Given the description of an element on the screen output the (x, y) to click on. 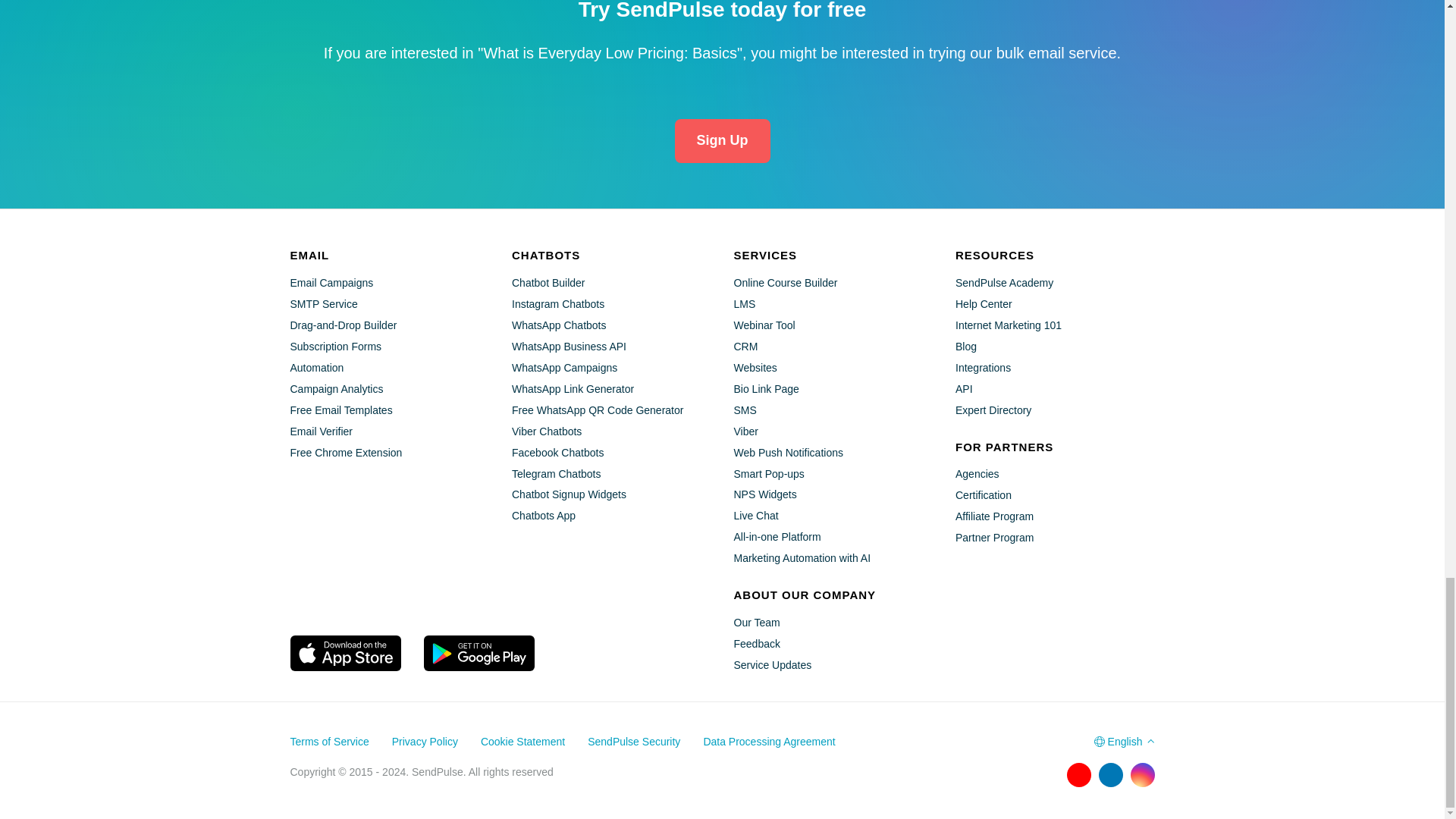
Watch us on YouTube (1077, 774)
Join us on Facebook (1014, 774)
Follow us on Twitter (1045, 774)
Follow us on Instagram (1141, 774)
Connect with us on LinkedIn (1109, 774)
